Given the description of an element on the screen output the (x, y) to click on. 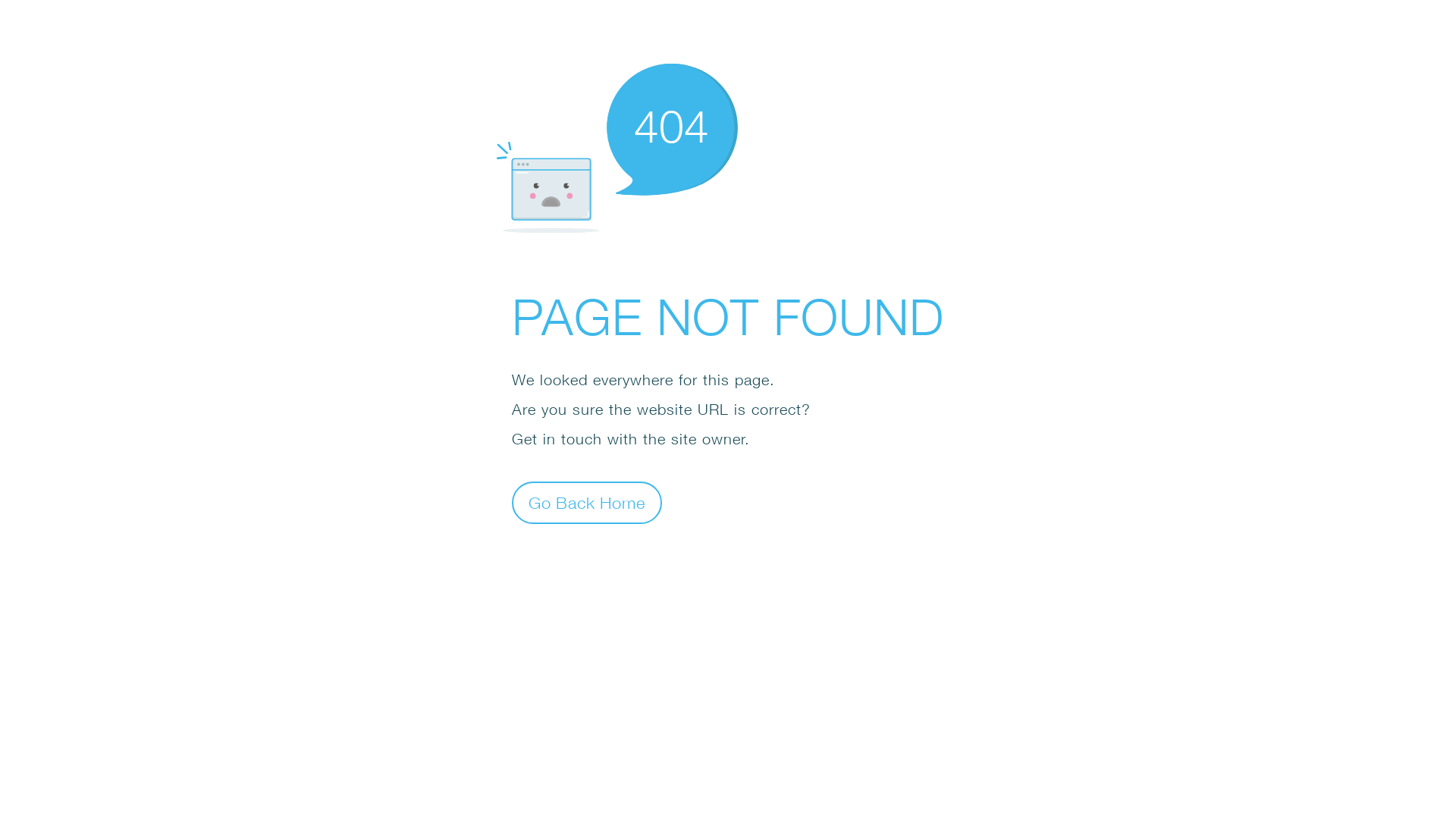
Go Back Home Element type: text (586, 502)
